Given the description of an element on the screen output the (x, y) to click on. 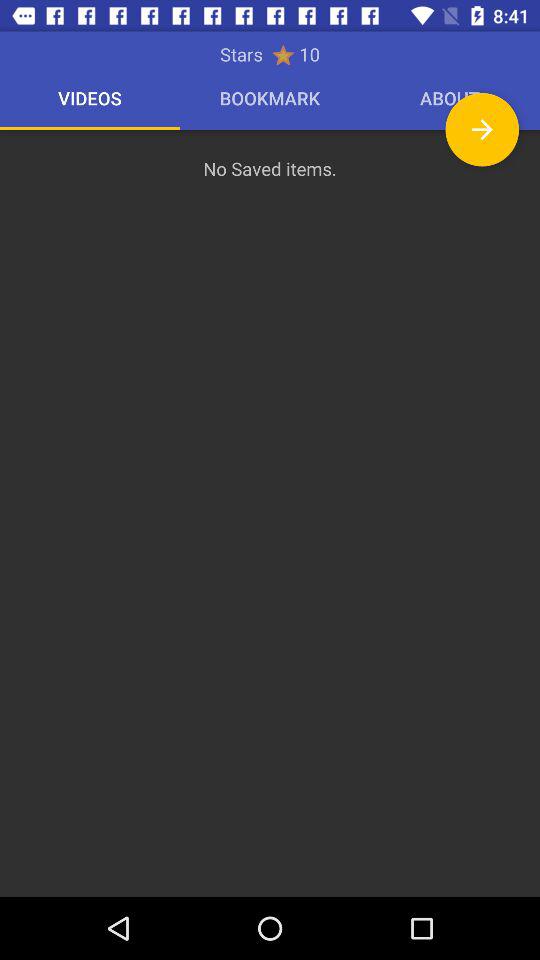
go to next (482, 129)
